Given the description of an element on the screen output the (x, y) to click on. 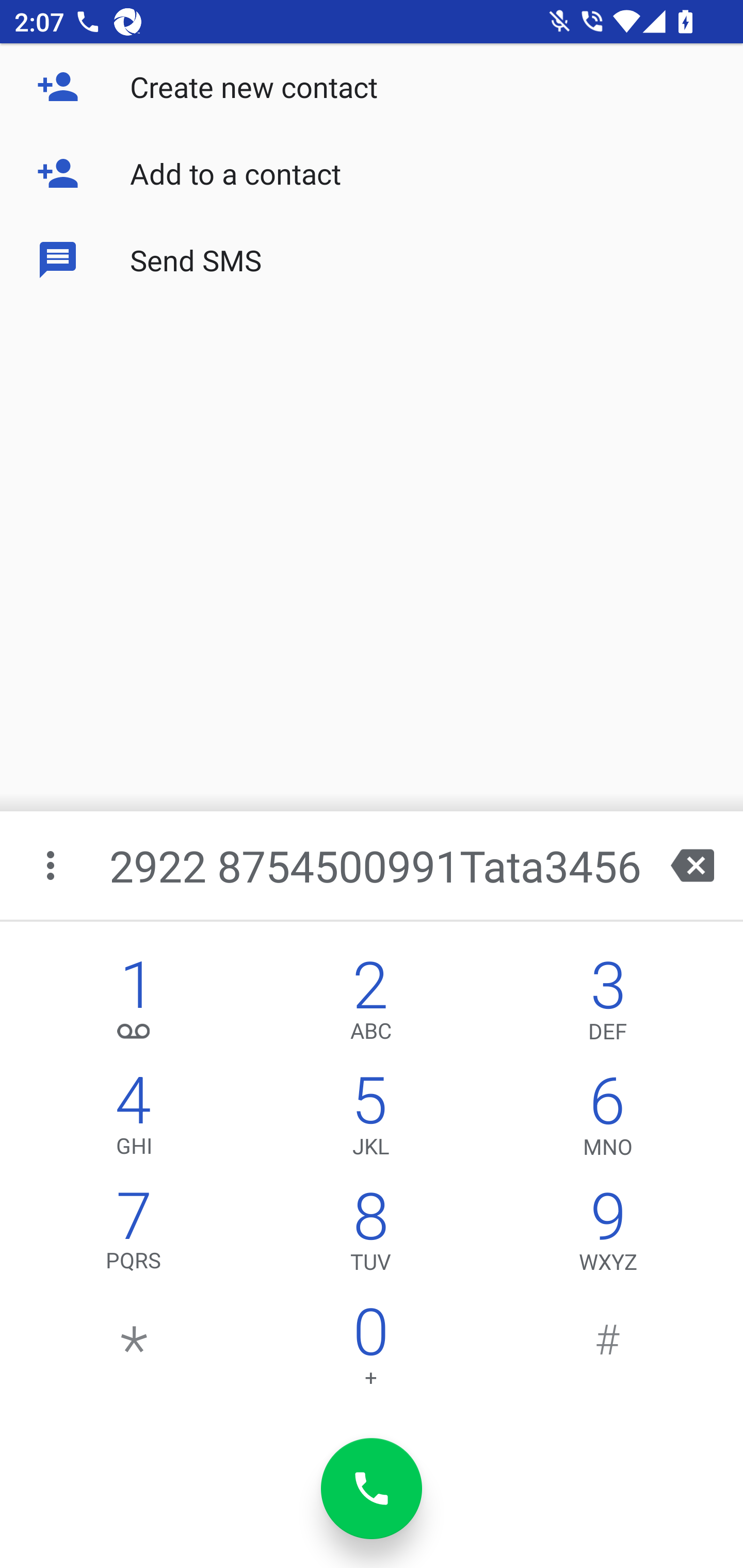
Create new contact (371, 86)
Add to a contact (371, 173)
Send SMS (371, 259)
+49 2922 8754500991Tata3456 (372, 865)
backspace (692, 865)
More options (52, 865)
1, 1 (133, 1005)
2,ABC 2 ABC (370, 1005)
3,DEF 3 DEF (607, 1005)
4,GHI 4 GHI (133, 1120)
5,JKL 5 JKL (370, 1120)
6,MNO 6 MNO (607, 1120)
7,PQRS 7 PQRS (133, 1235)
8,TUV 8 TUV (370, 1235)
9,WXYZ 9 WXYZ (607, 1235)
* (133, 1351)
0 0 + (370, 1351)
# (607, 1351)
dial (371, 1488)
